Given the description of an element on the screen output the (x, y) to click on. 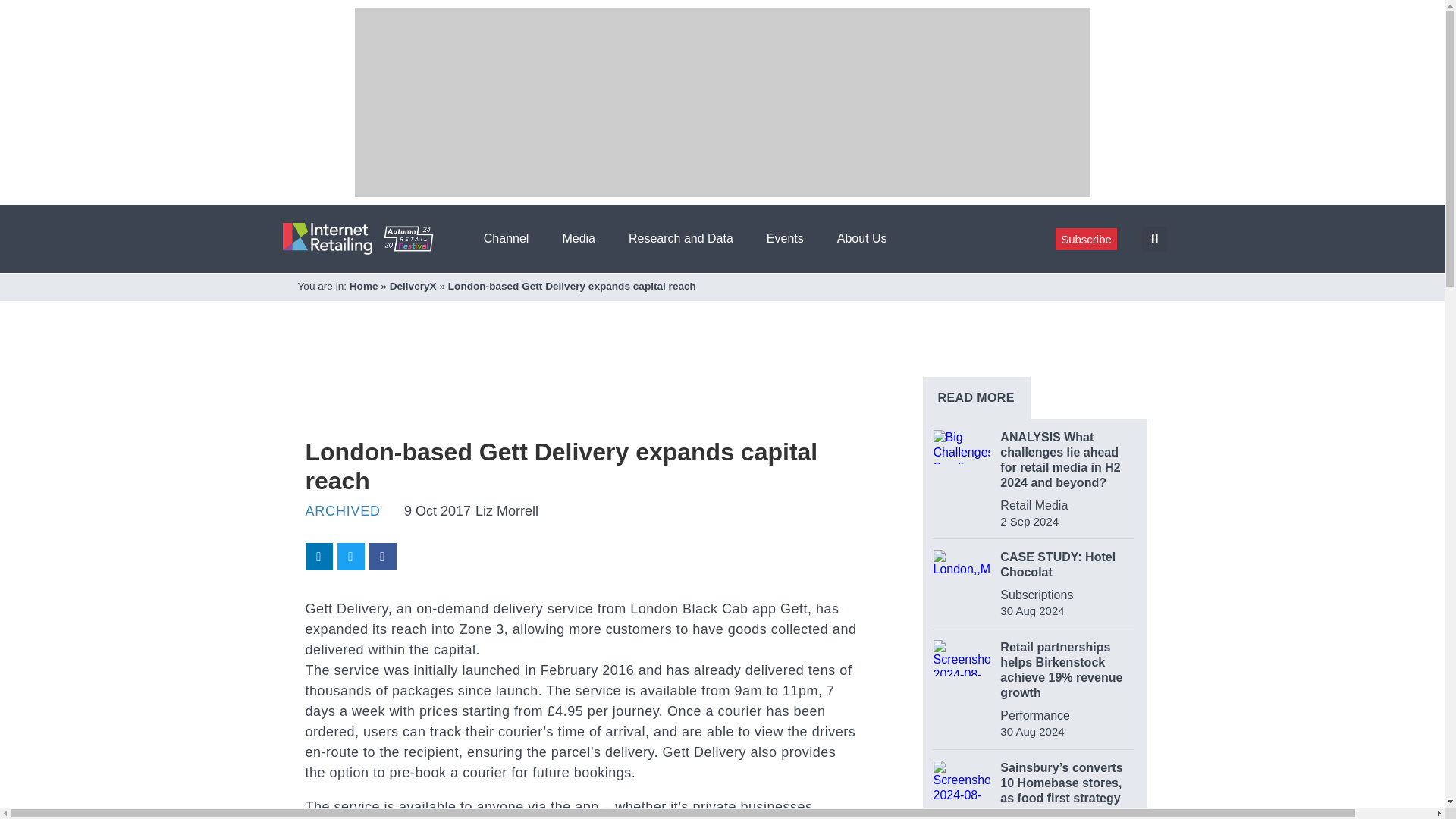
Channel (511, 238)
Research and Data (686, 238)
Media (583, 238)
